Given the description of an element on the screen output the (x, y) to click on. 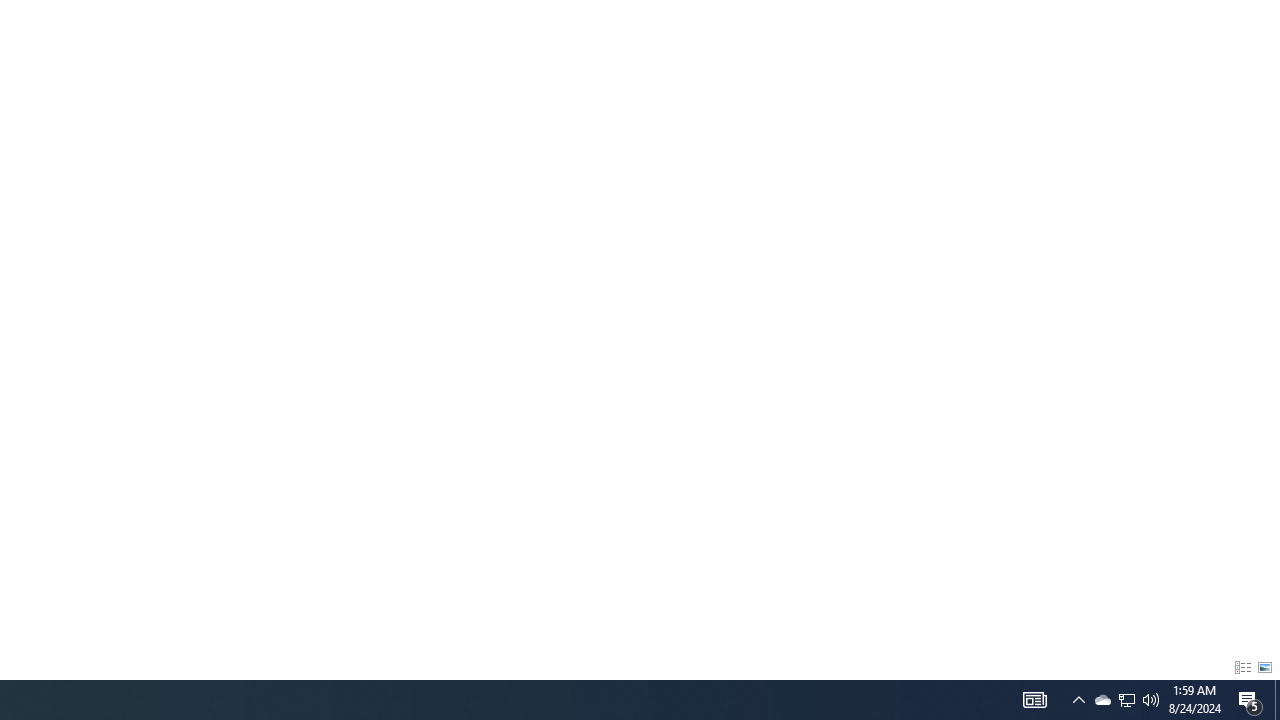
Details (1242, 667)
Large Icons (1265, 667)
